Given the description of an element on the screen output the (x, y) to click on. 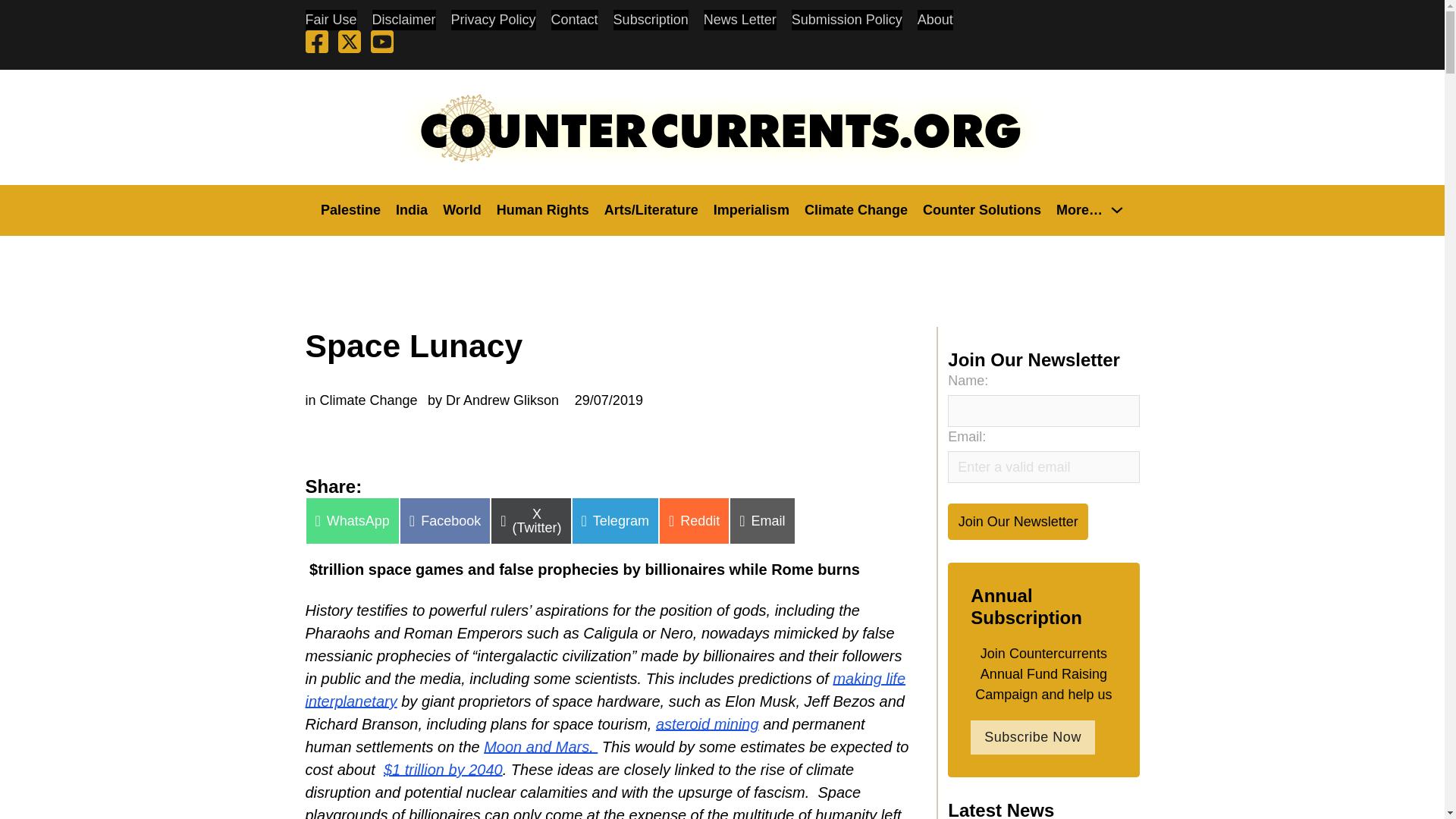
Contact (574, 19)
India (412, 209)
Imperialism (751, 209)
Climate Change (856, 209)
Privacy Policy (493, 19)
Palestine (350, 209)
News Letter (739, 19)
Counter Solutions (982, 209)
Disclaimer (403, 19)
Fair Use (330, 19)
